Given the description of an element on the screen output the (x, y) to click on. 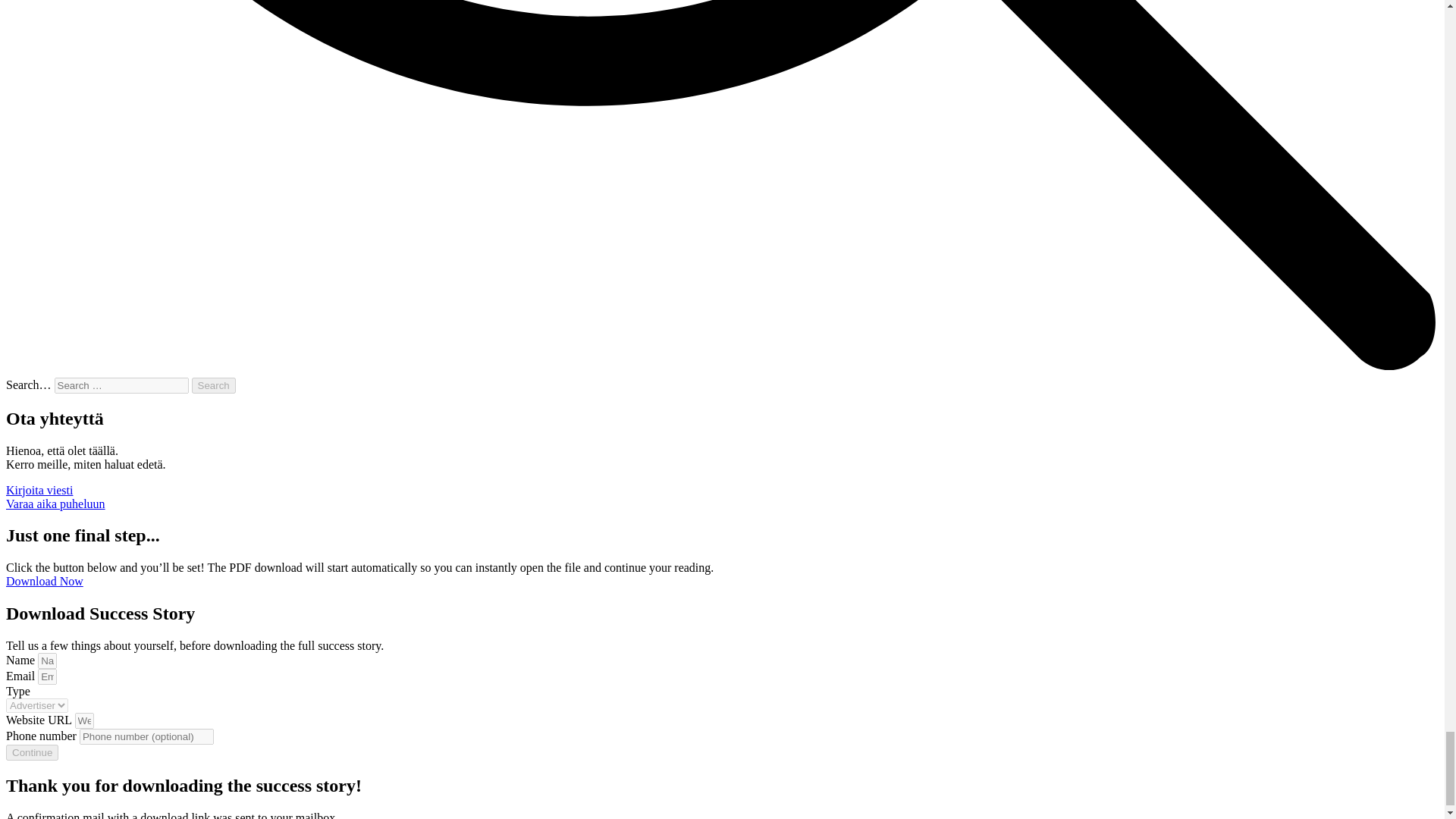
Search (213, 385)
Search (213, 385)
